Given the description of an element on the screen output the (x, y) to click on. 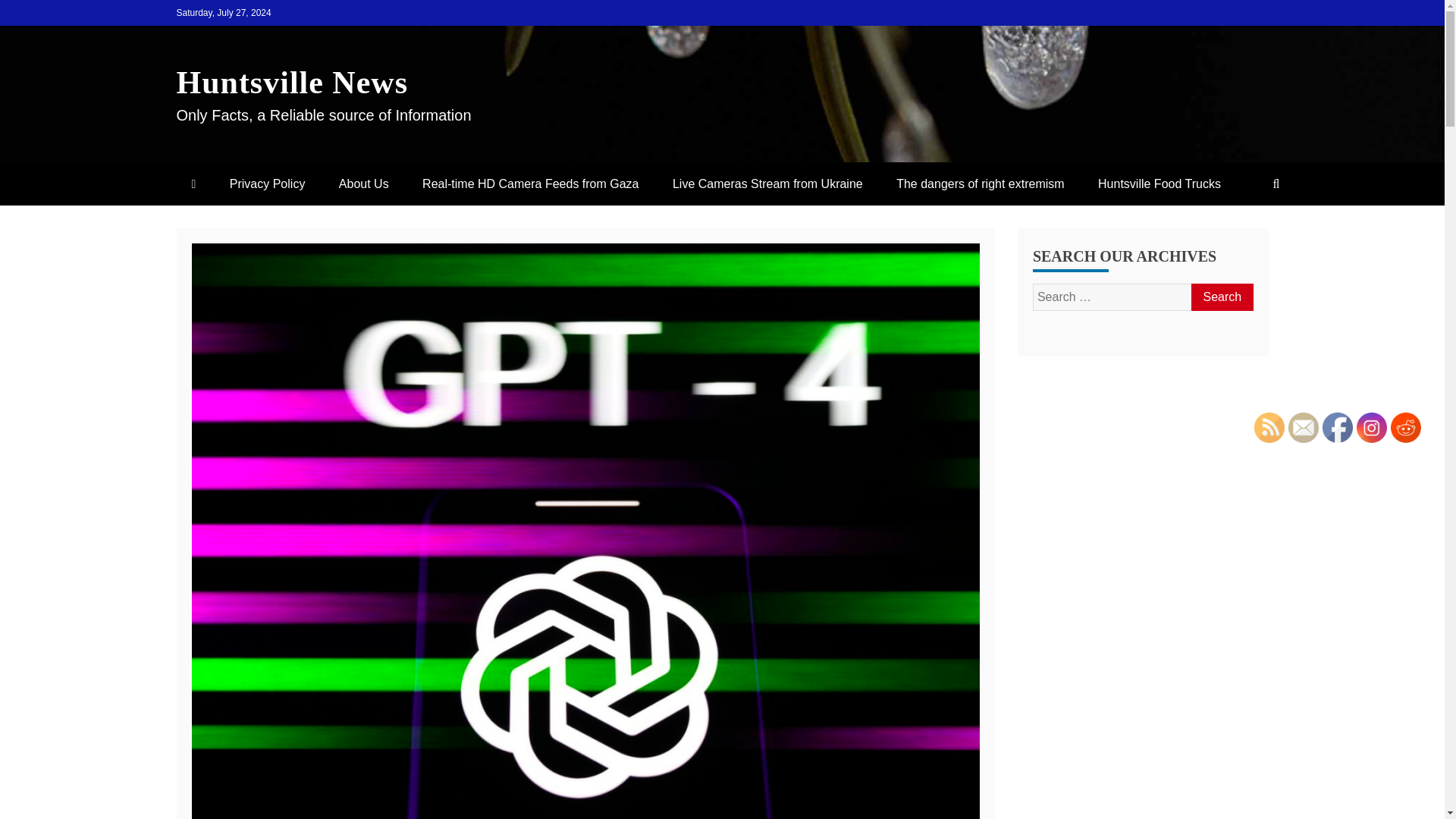
The dangers of right extremism (979, 183)
About Us (363, 183)
Search (1221, 297)
Follow by Email (1303, 427)
Huntsville News (291, 82)
Search (1221, 297)
RSS (1268, 427)
Huntsville Food Trucks (1159, 183)
Real-time HD Camera Feeds from Gaza (530, 183)
Live Cameras Stream from Ukraine (767, 183)
Facebook (1337, 427)
Privacy Policy (267, 183)
